Given the description of an element on the screen output the (x, y) to click on. 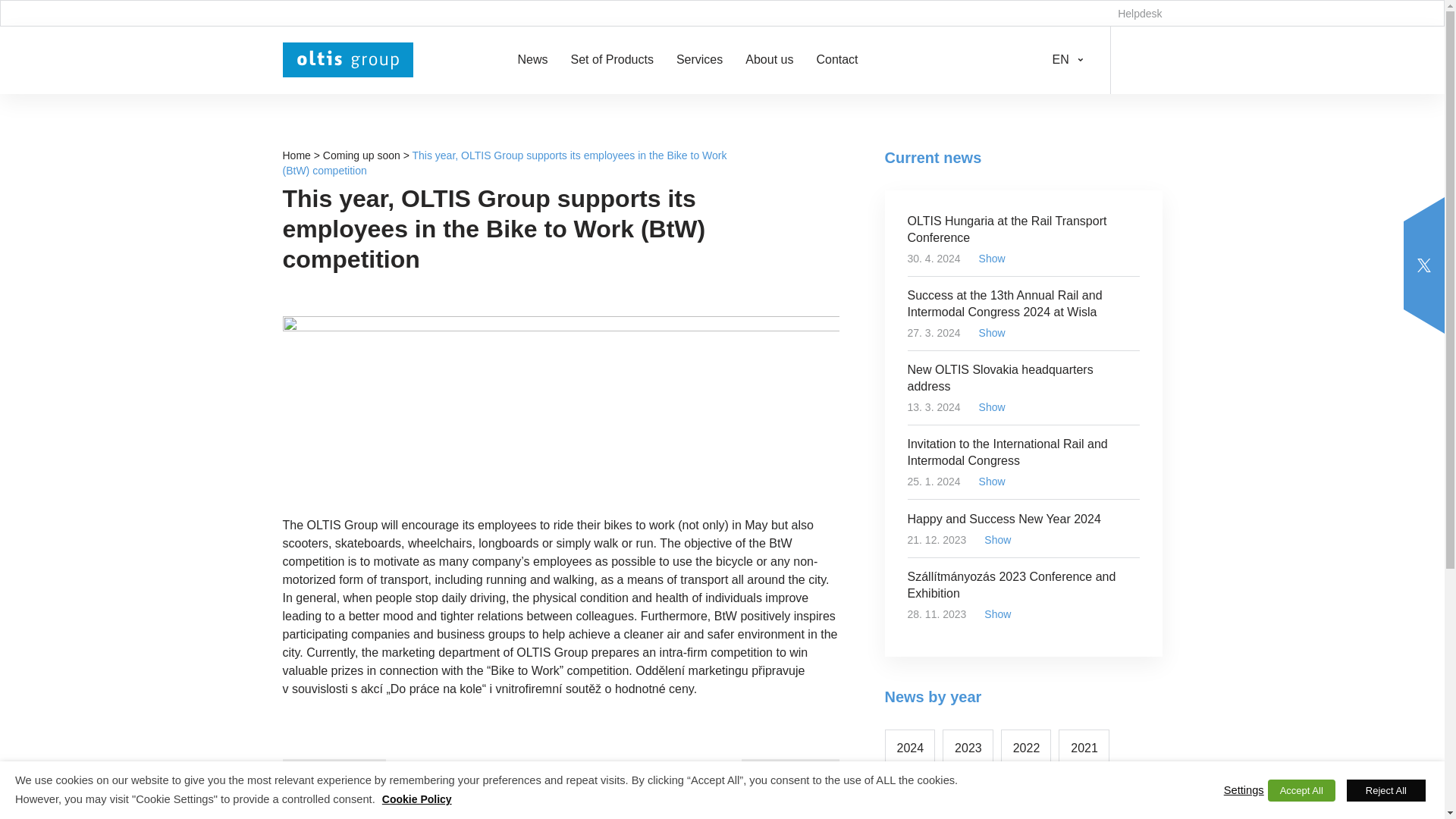
OLTIS Hungaria at the Rail Transport Conference (1022, 237)
News (531, 59)
Coming up soon (361, 155)
Older news (790, 777)
About us (769, 59)
Helpdesk (1139, 13)
Home (296, 155)
Set of Products (611, 59)
ff (296, 155)
Newer news (333, 777)
Show (997, 258)
Services (699, 59)
Contact (836, 59)
Go to the Coming up soon category archives. (361, 155)
OLTIS Group (347, 59)
